Given the description of an element on the screen output the (x, y) to click on. 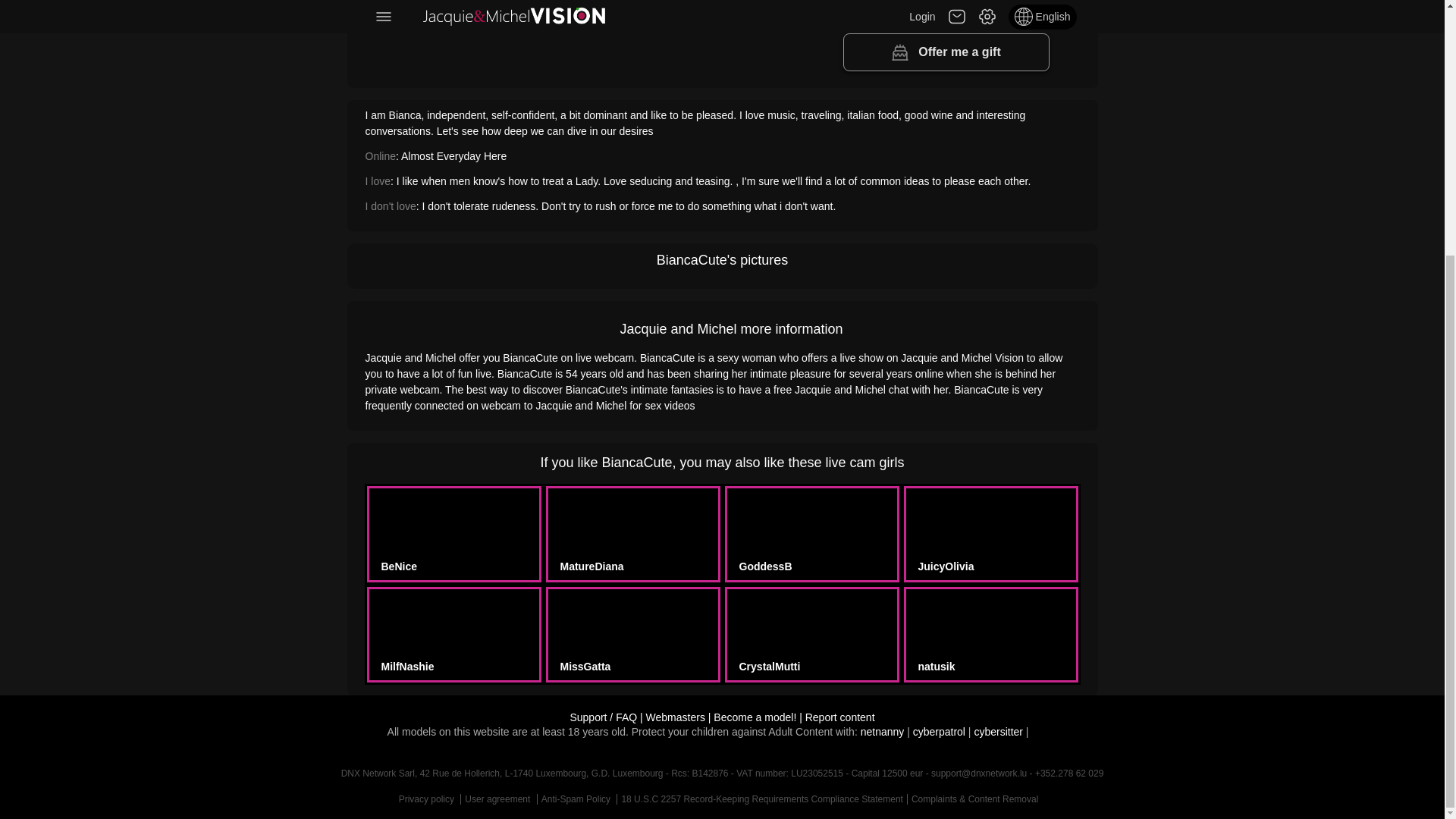
Xcams Power (675, 717)
Xcams Models (754, 717)
BeNice (398, 565)
MatureDiana (590, 565)
GoddessB (764, 565)
Offer me a gift (946, 52)
